Given the description of an element on the screen output the (x, y) to click on. 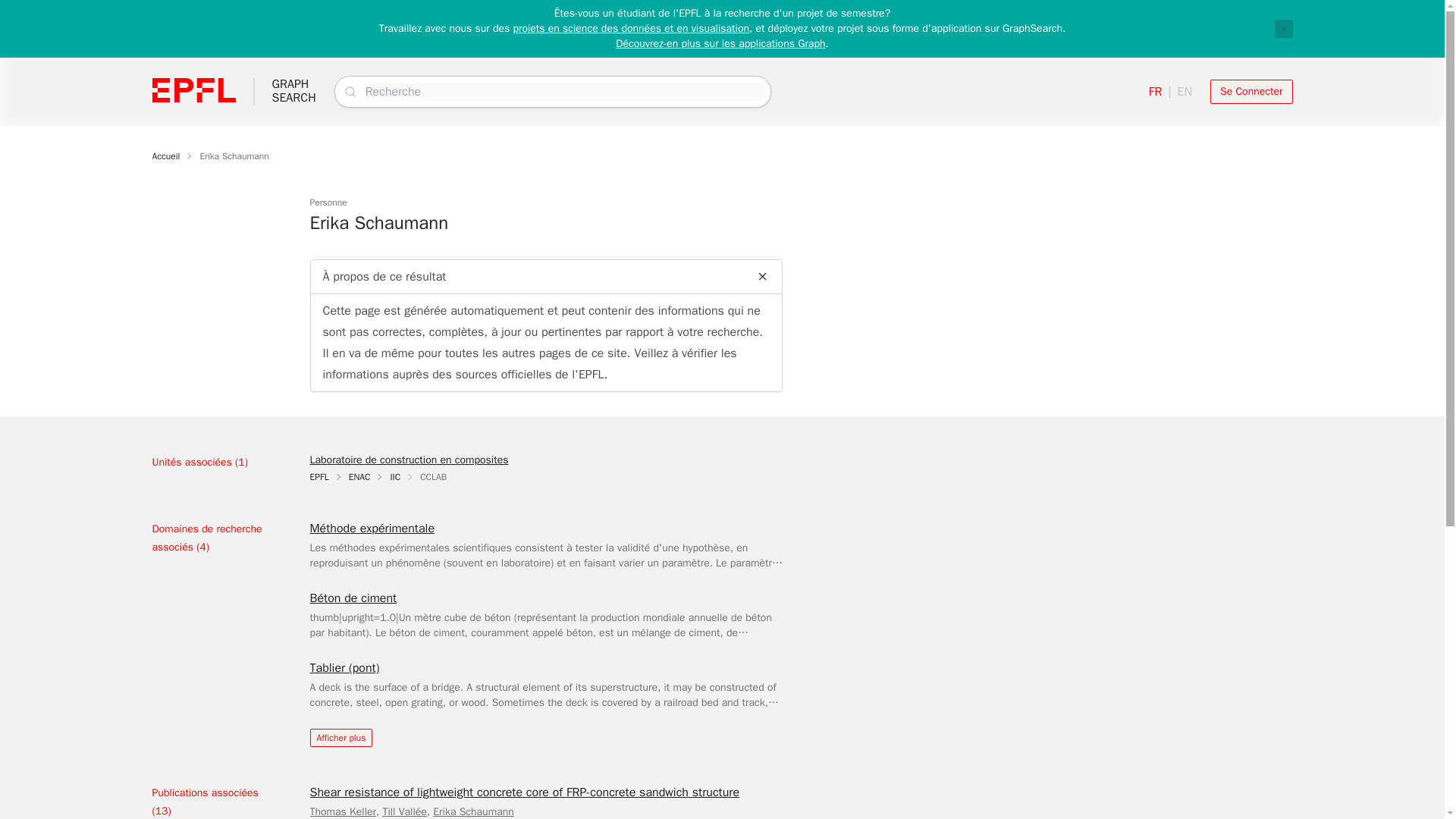
Close notification (1283, 28)
Erika Schaumann (233, 155)
Erika Schaumann (292, 90)
Se Connecter (472, 811)
Laboratoire de construction en composites (1250, 91)
Thomas Keller (408, 459)
Afficher plus (341, 811)
EPFL (340, 737)
